Given the description of an element on the screen output the (x, y) to click on. 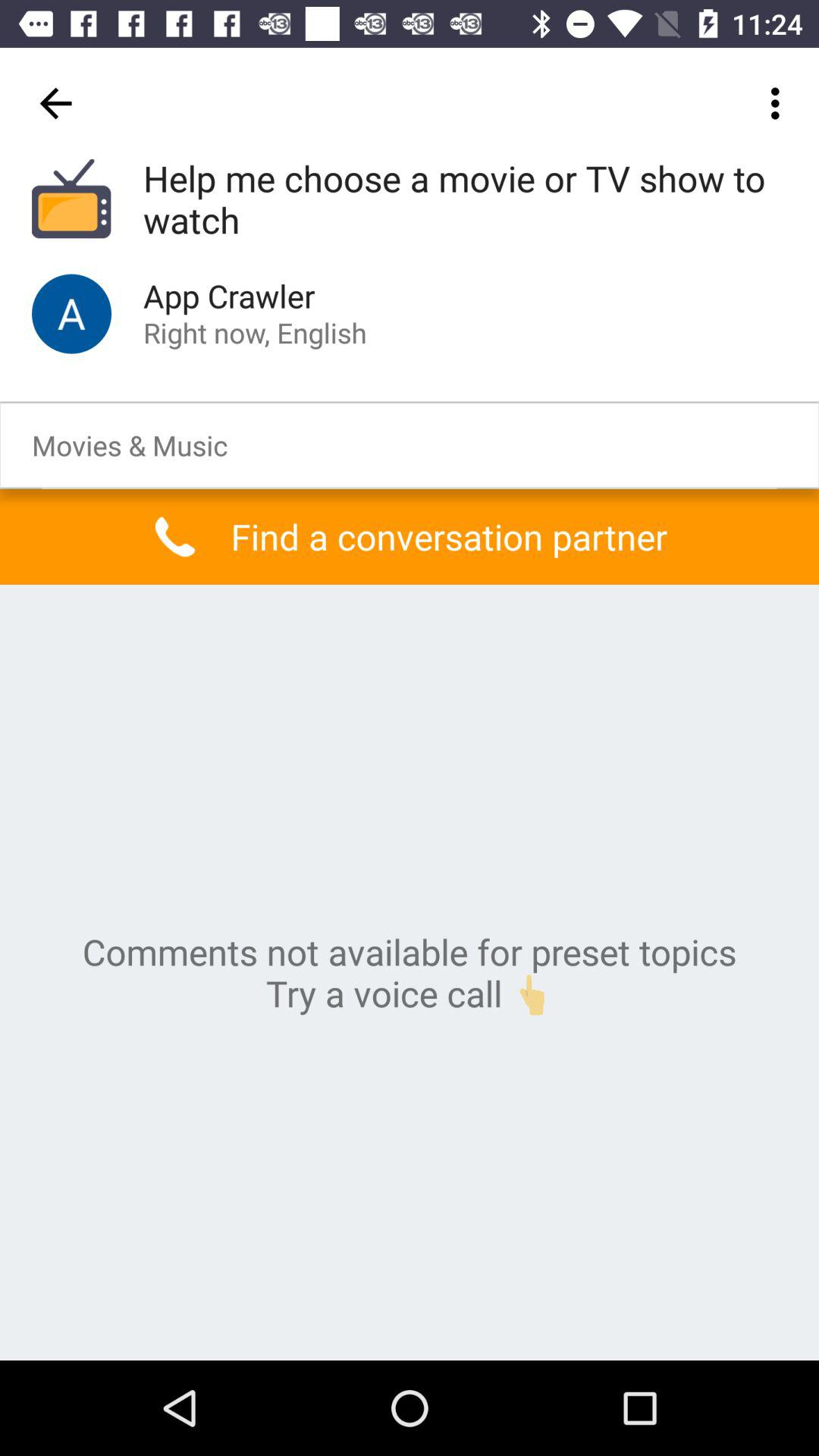
tap item to the left of app crawler icon (71, 313)
